Given the description of an element on the screen output the (x, y) to click on. 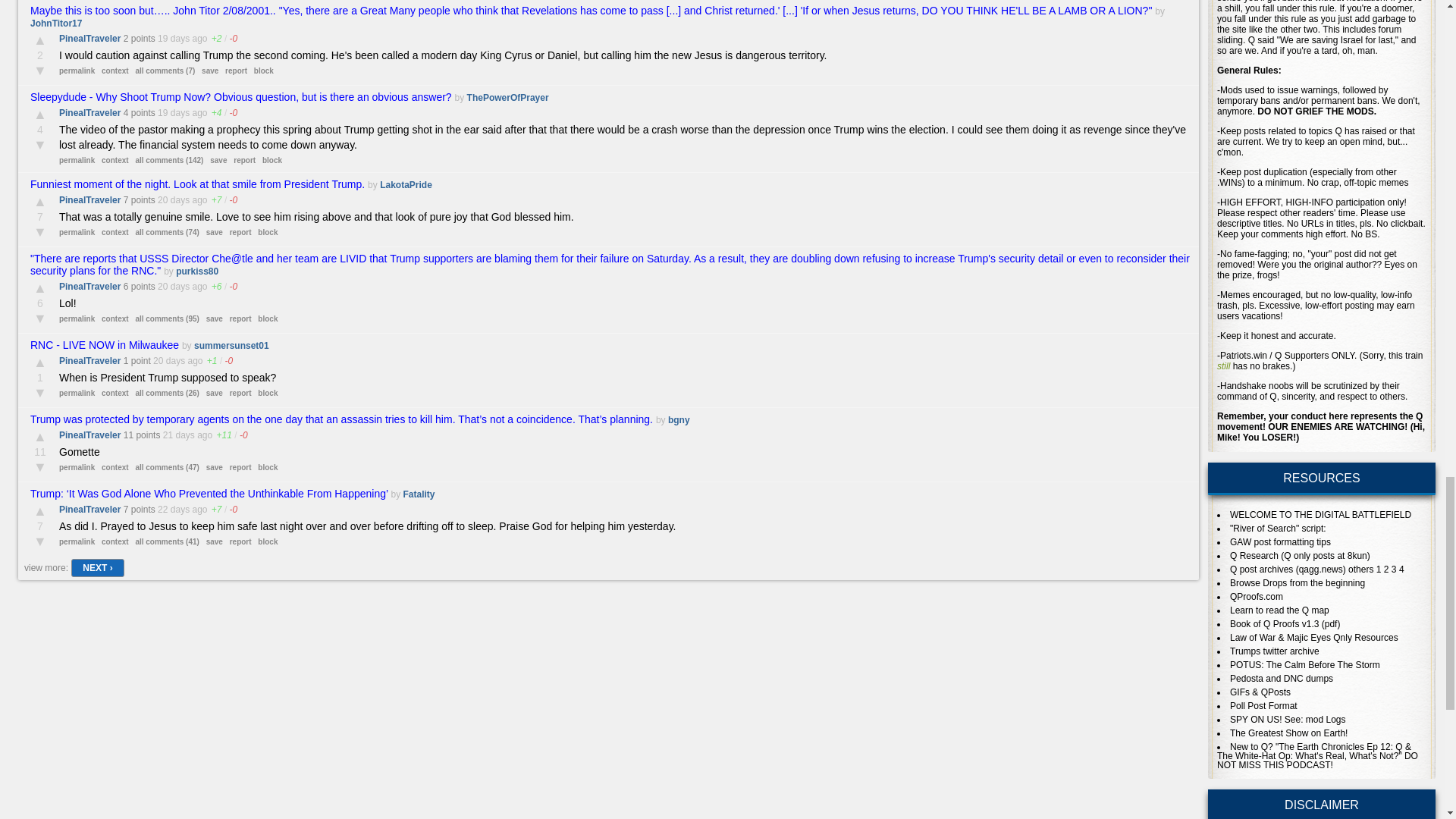
Tue Jul 16 21:58:29 GMT 2024 (173, 112)
Wed Jul 17 12:41:03 GMT 2024 (173, 38)
